Given the description of an element on the screen output the (x, y) to click on. 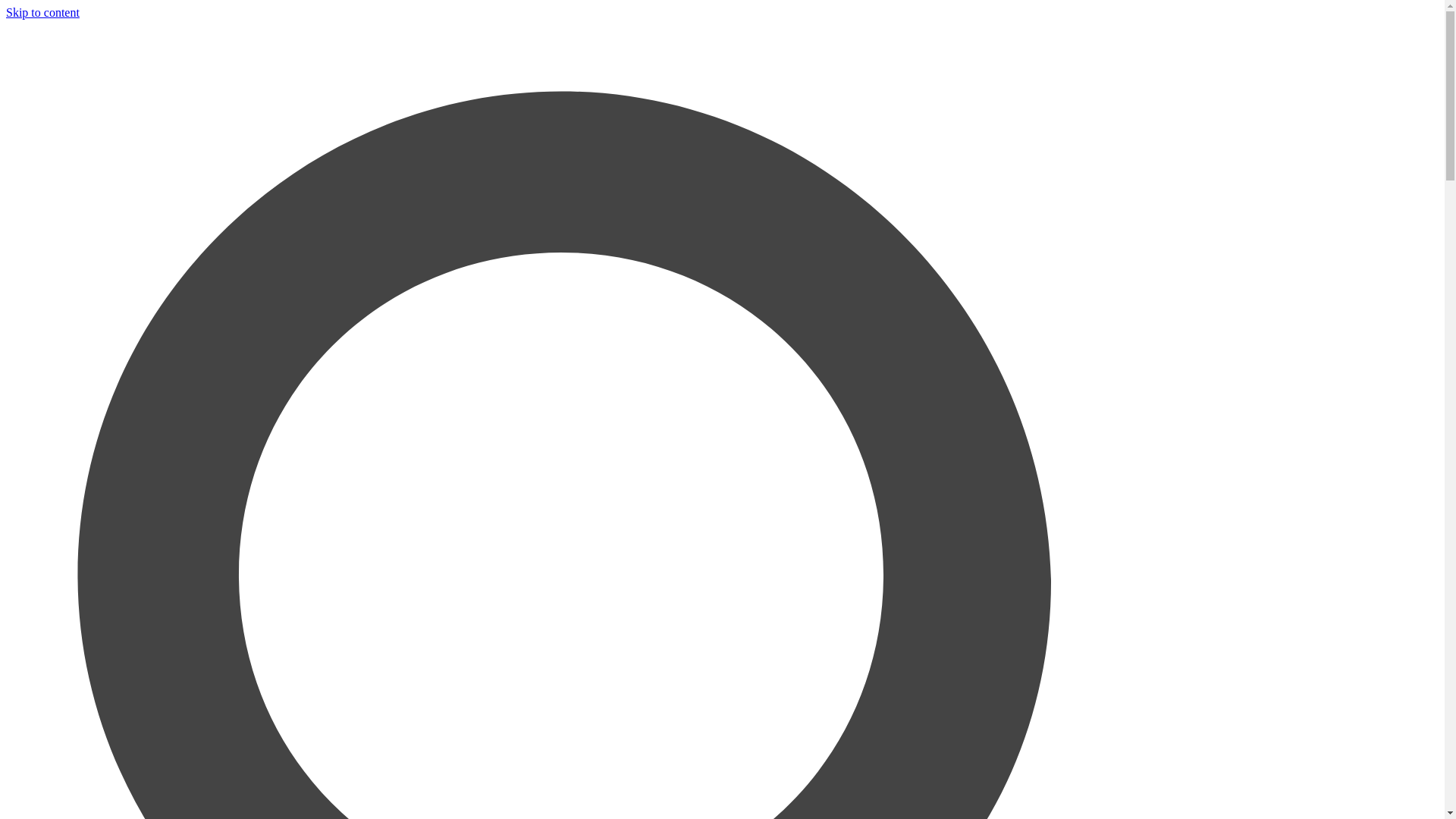
Skip to content Element type: text (42, 12)
